Given the description of an element on the screen output the (x, y) to click on. 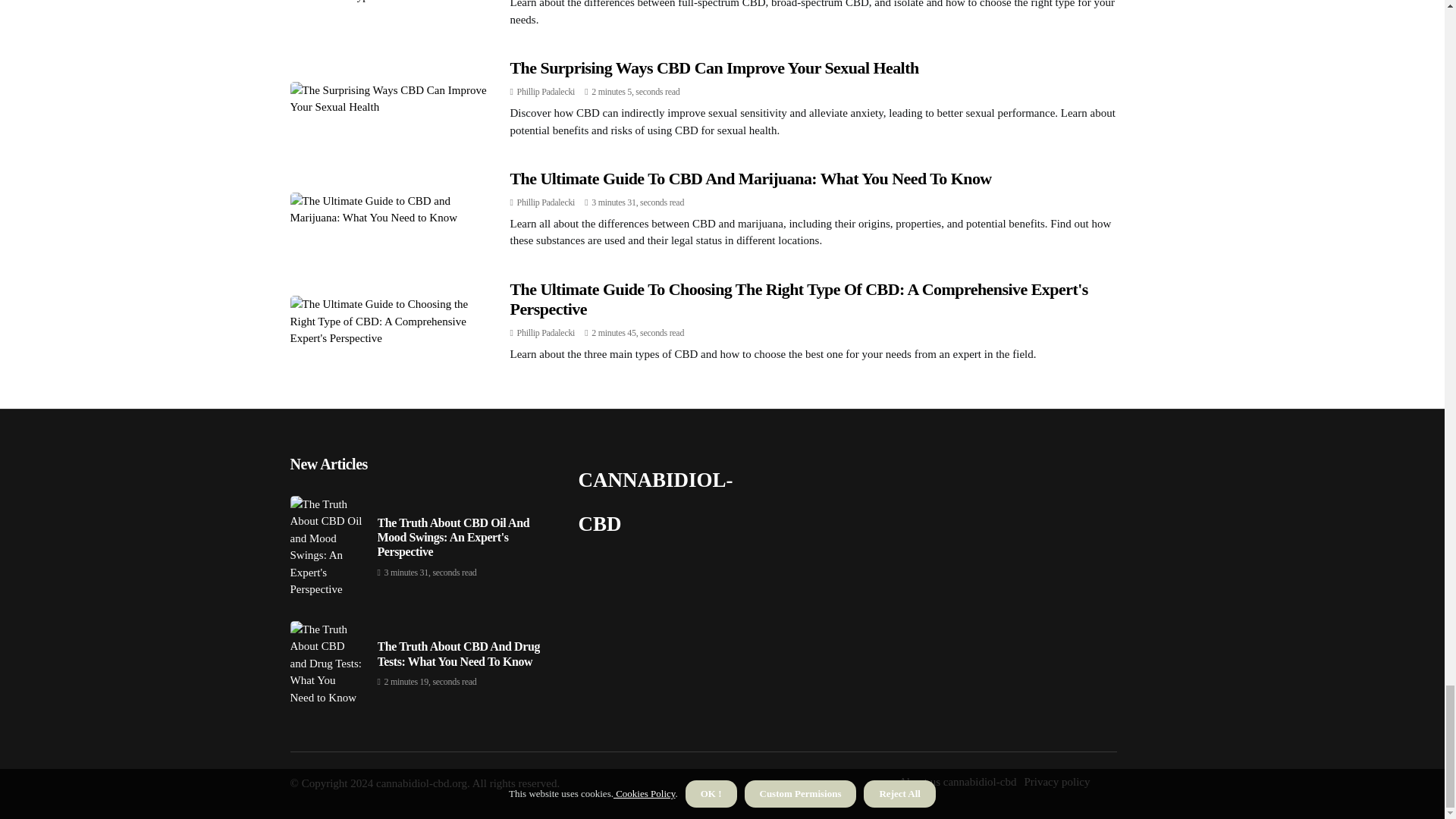
Posts by Phillip Padalecki (545, 332)
Posts by Phillip Padalecki (545, 91)
Phillip Padalecki (545, 202)
Phillip Padalecki (545, 332)
The Surprising Ways CBD Can Improve Your Sexual Health (713, 67)
Phillip Padalecki (545, 91)
Posts by Phillip Padalecki (545, 202)
